Given the description of an element on the screen output the (x, y) to click on. 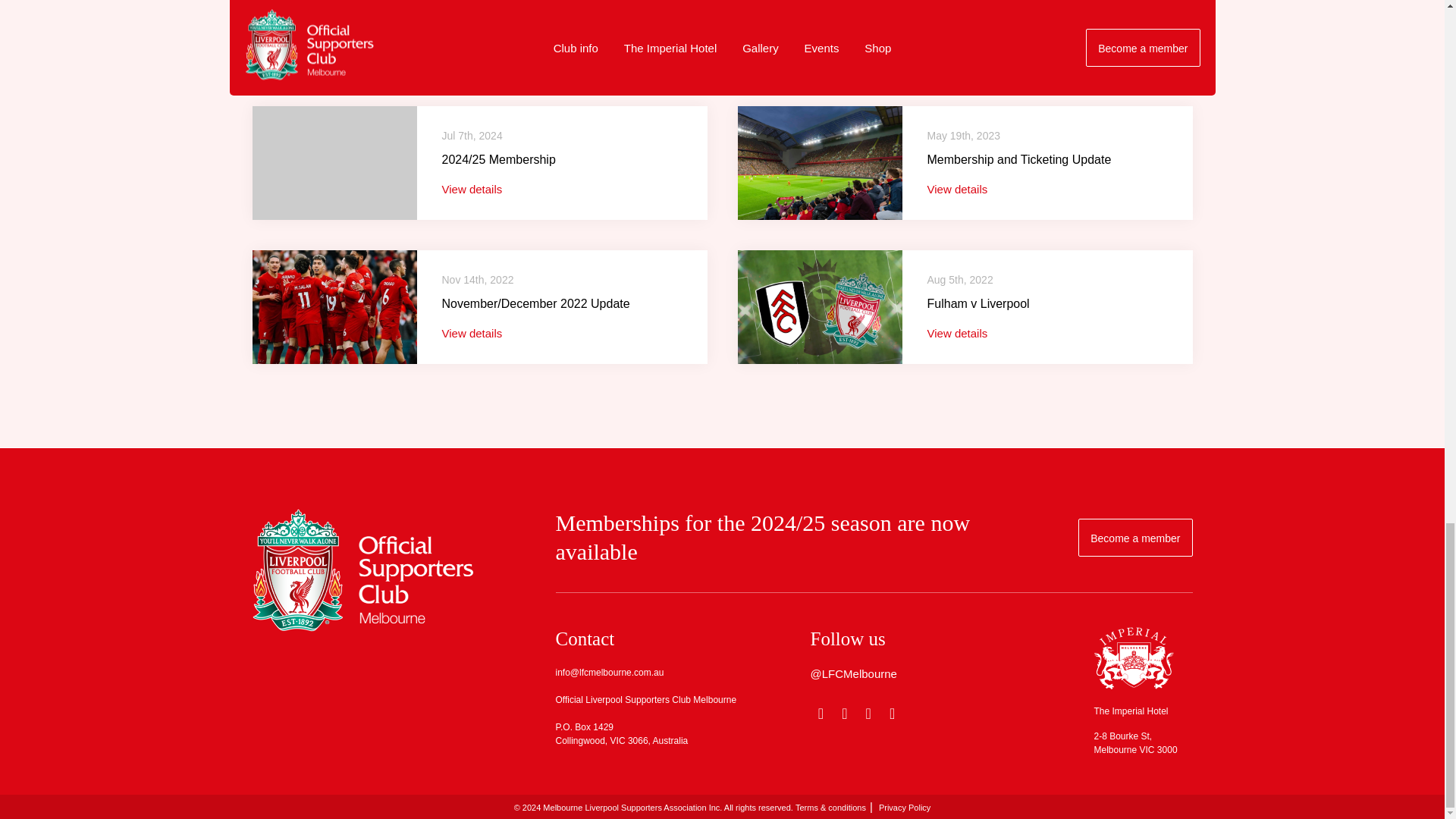
View details (956, 332)
Become a member (1135, 536)
View details (471, 332)
Privacy Policy (904, 807)
View details (471, 188)
View all articles (1125, 15)
View details (956, 188)
